Given the description of an element on the screen output the (x, y) to click on. 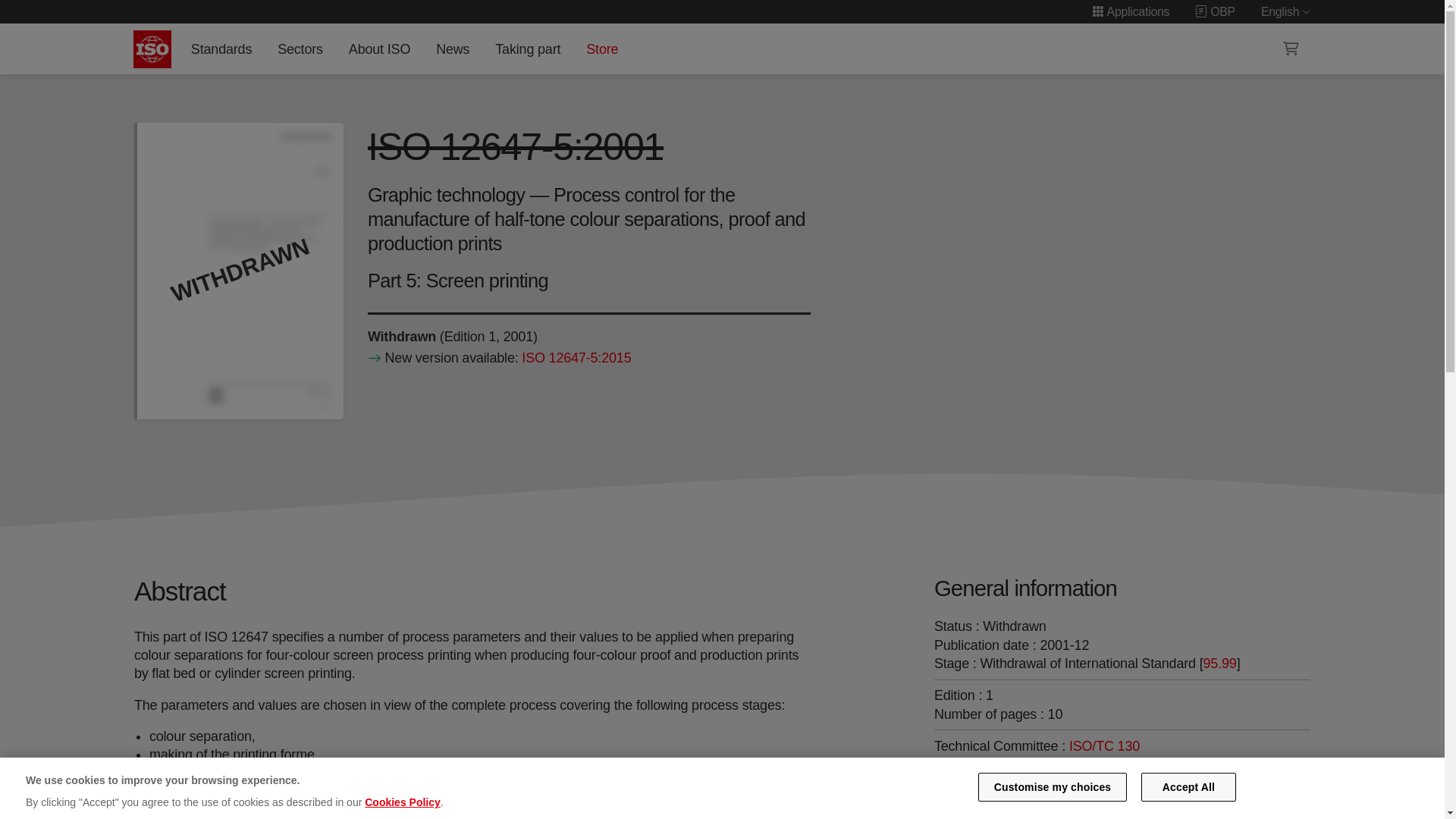
News (452, 48)
Taking part (528, 48)
ISO's applications portal (1130, 11)
Life cycle (400, 336)
Withdrawn (400, 336)
Standards (220, 48)
